Given the description of an element on the screen output the (x, y) to click on. 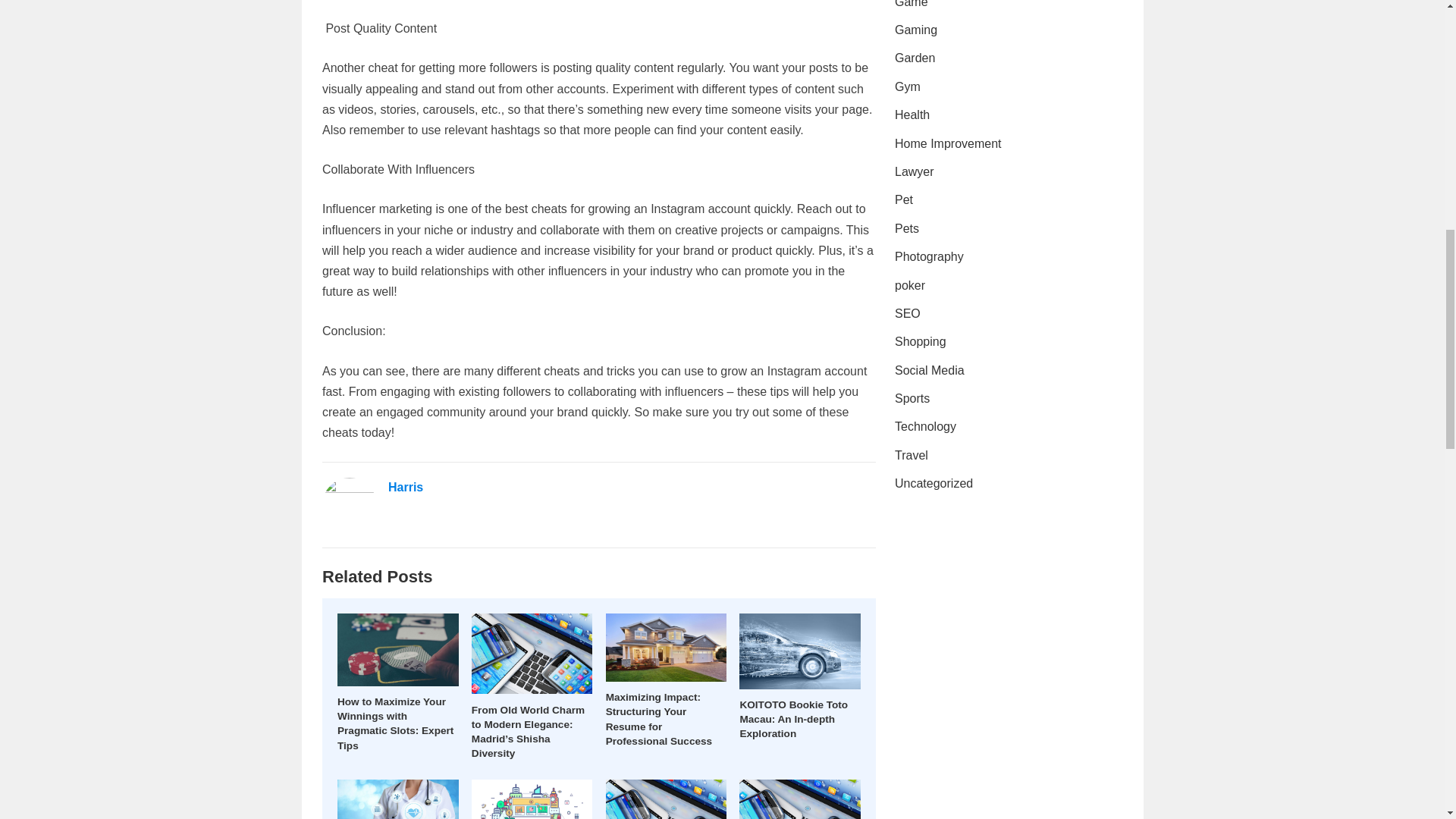
Harris (405, 486)
KOITOTO Bookie Toto Macau: An In-depth Exploration (793, 719)
